Given the description of an element on the screen output the (x, y) to click on. 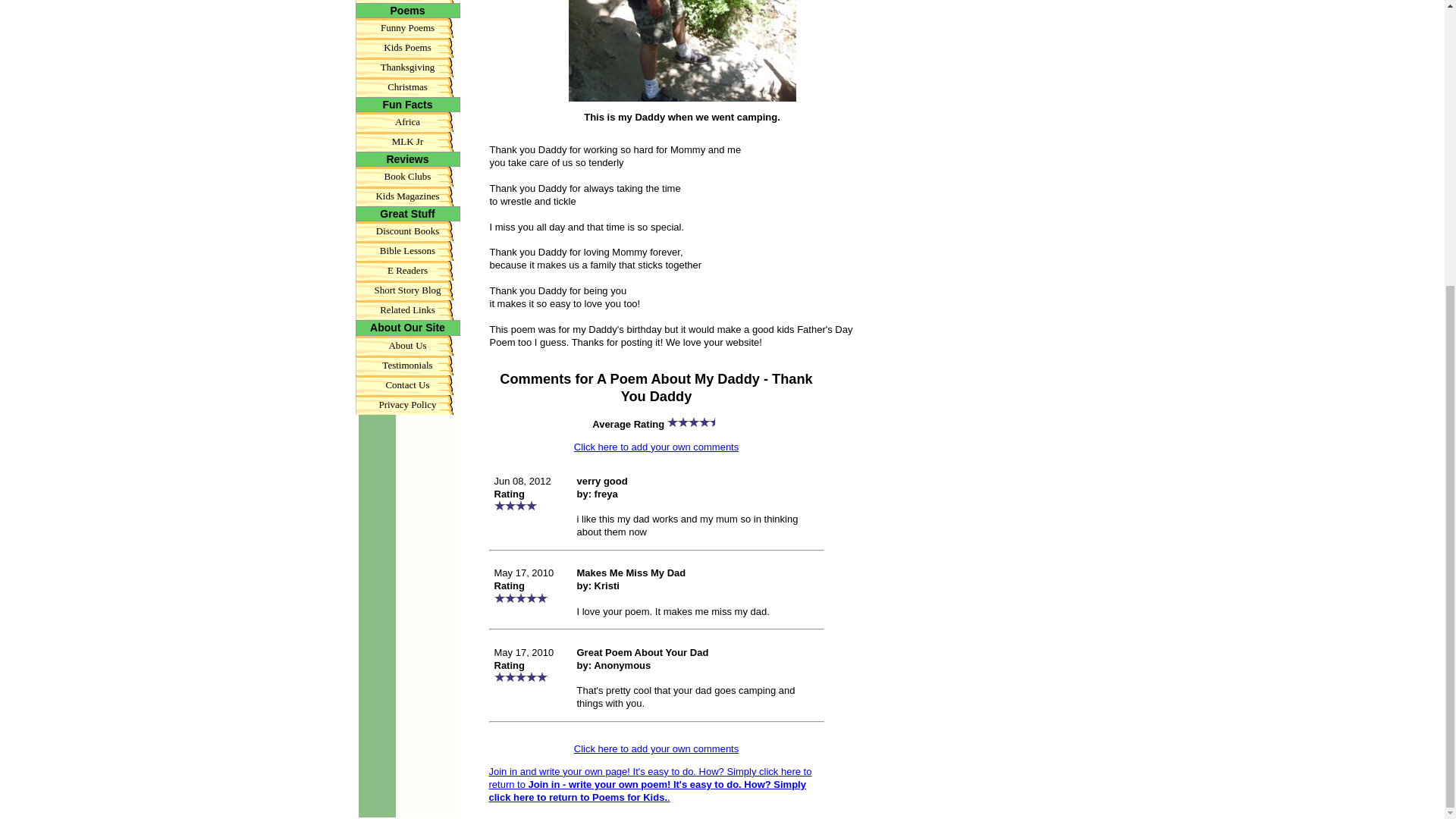
Kids Poems (407, 47)
E Readers (407, 270)
Africa (407, 121)
Funny Poems (407, 27)
Privacy Policy (407, 403)
Click here to add your own comments (655, 748)
Kids Magazines (407, 196)
Christmas (407, 86)
Short Story Blog (407, 290)
This is my Daddy when we went camping.  (682, 50)
Discount Books (407, 230)
Bible Lessons (407, 250)
Testimonials (407, 364)
Click here to add your own comments (655, 446)
Contact Us (407, 383)
